Given the description of an element on the screen output the (x, y) to click on. 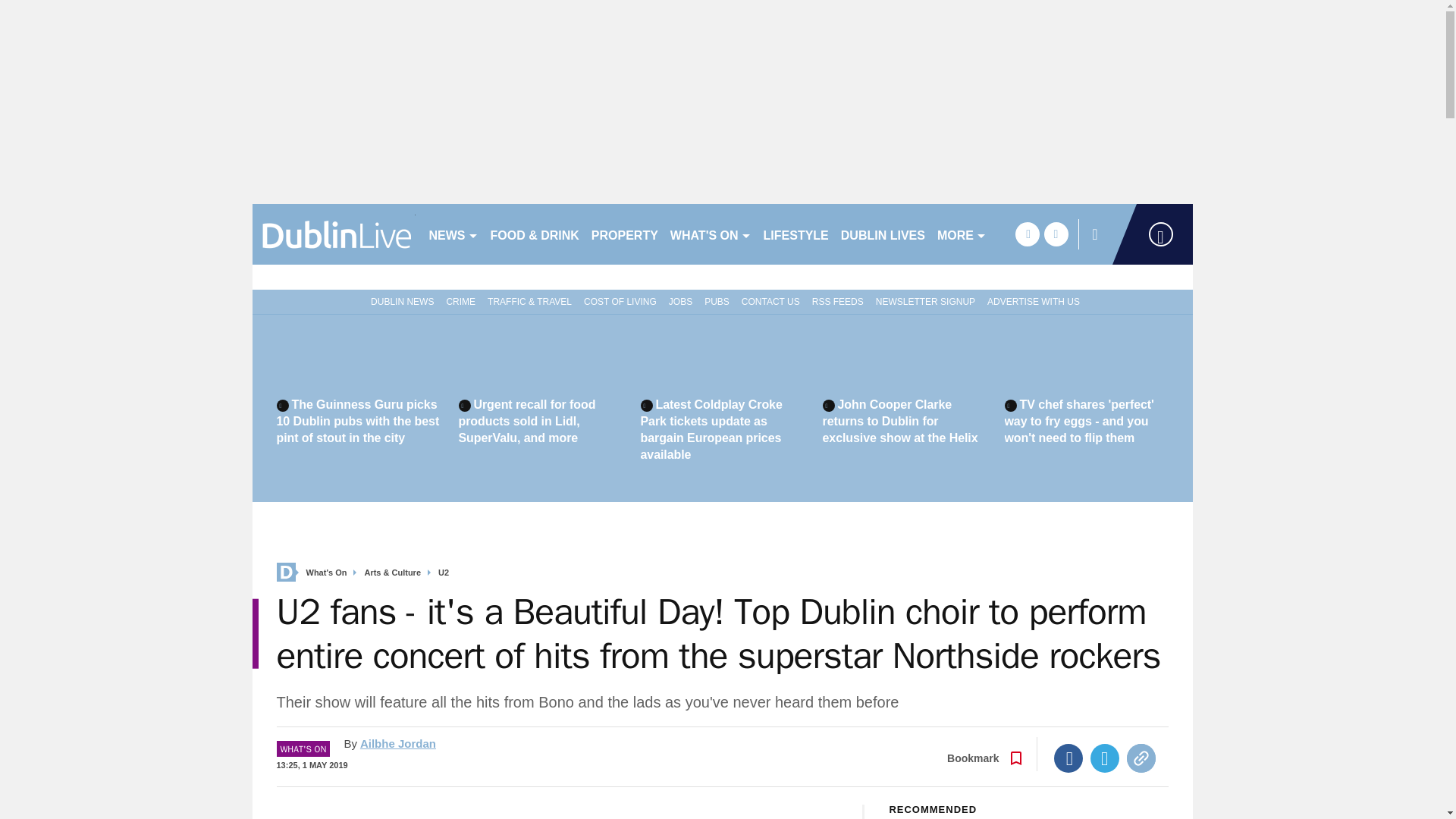
twitter (1055, 233)
facebook (1026, 233)
WHAT'S ON (710, 233)
MORE (961, 233)
dublinlive (332, 233)
LIFESTYLE (795, 233)
NEWS (453, 233)
Facebook (1068, 758)
DUBLIN LIVES (882, 233)
PROPERTY (624, 233)
Twitter (1104, 758)
